Given the description of an element on the screen output the (x, y) to click on. 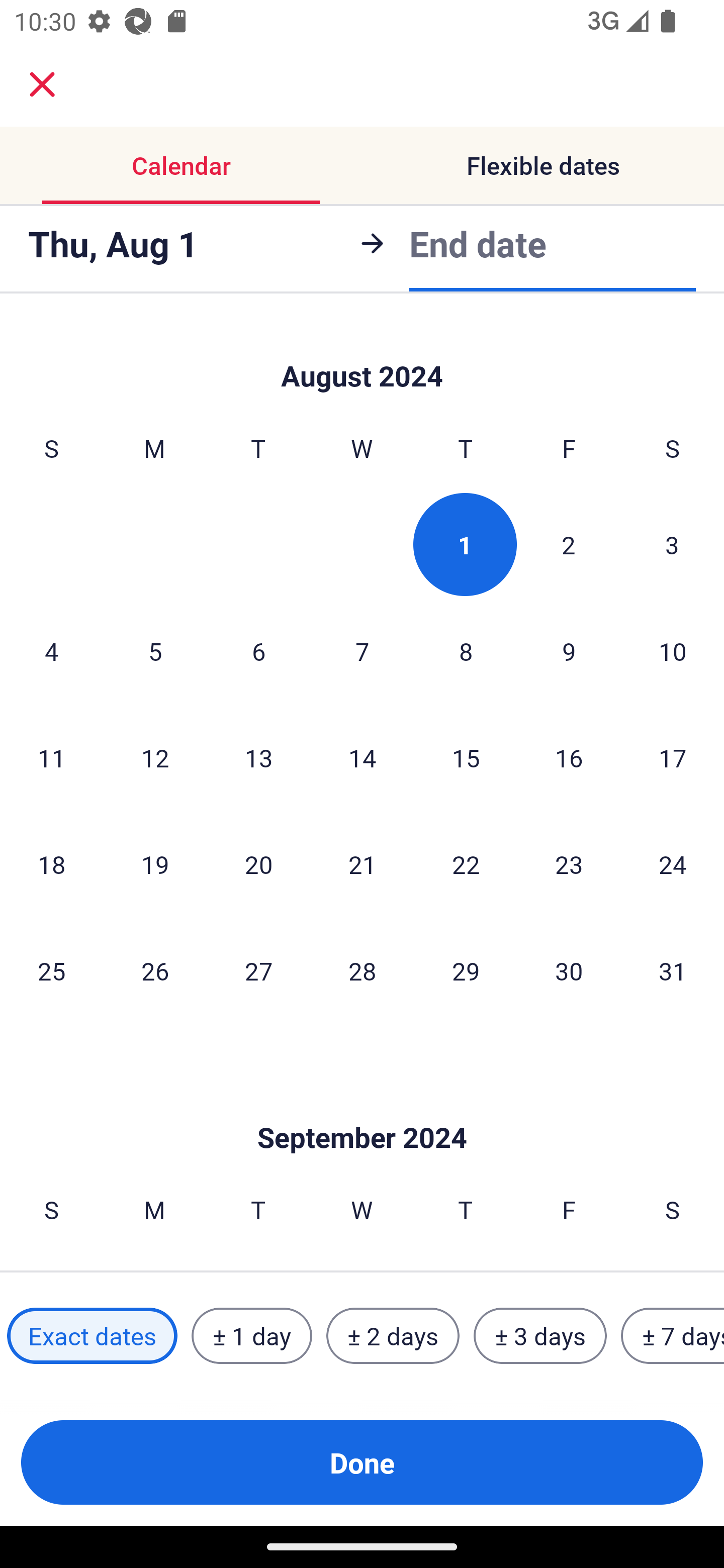
close. (42, 84)
Flexible dates (542, 164)
End date (477, 243)
Skip to Done (362, 354)
2 Friday, August 2, 2024 (568, 543)
3 Saturday, August 3, 2024 (672, 543)
4 Sunday, August 4, 2024 (51, 650)
5 Monday, August 5, 2024 (155, 650)
6 Tuesday, August 6, 2024 (258, 650)
7 Wednesday, August 7, 2024 (362, 650)
8 Thursday, August 8, 2024 (465, 650)
9 Friday, August 9, 2024 (569, 650)
10 Saturday, August 10, 2024 (672, 650)
11 Sunday, August 11, 2024 (51, 757)
12 Monday, August 12, 2024 (155, 757)
13 Tuesday, August 13, 2024 (258, 757)
14 Wednesday, August 14, 2024 (362, 757)
15 Thursday, August 15, 2024 (465, 757)
16 Friday, August 16, 2024 (569, 757)
17 Saturday, August 17, 2024 (672, 757)
18 Sunday, August 18, 2024 (51, 863)
19 Monday, August 19, 2024 (155, 863)
20 Tuesday, August 20, 2024 (258, 863)
21 Wednesday, August 21, 2024 (362, 863)
22 Thursday, August 22, 2024 (465, 863)
23 Friday, August 23, 2024 (569, 863)
24 Saturday, August 24, 2024 (672, 863)
25 Sunday, August 25, 2024 (51, 970)
26 Monday, August 26, 2024 (155, 970)
27 Tuesday, August 27, 2024 (258, 970)
28 Wednesday, August 28, 2024 (362, 970)
29 Thursday, August 29, 2024 (465, 970)
30 Friday, August 30, 2024 (569, 970)
31 Saturday, August 31, 2024 (672, 970)
Skip to Done (362, 1106)
Exact dates (92, 1335)
± 1 day (251, 1335)
± 2 days (392, 1335)
± 3 days (539, 1335)
± 7 days (672, 1335)
Done (361, 1462)
